Given the description of an element on the screen output the (x, y) to click on. 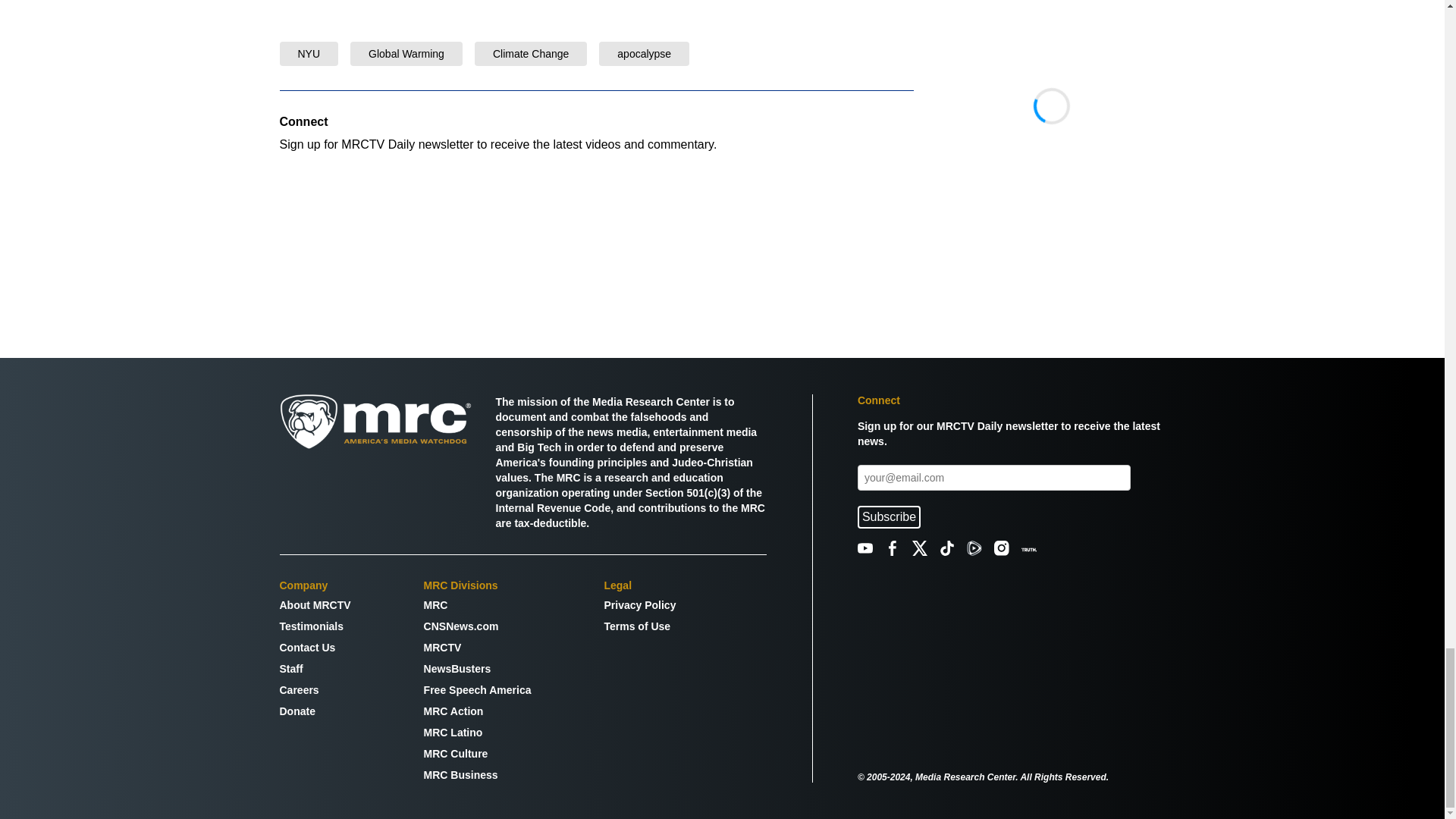
apocalypse (644, 53)
NYU (308, 53)
MRC (477, 604)
About MRCTV (314, 604)
Careers (314, 689)
Global Warming (406, 53)
CNSNews.com (477, 626)
Climate Change (531, 53)
Contact Us (314, 647)
Donate (314, 711)
